Given the description of an element on the screen output the (x, y) to click on. 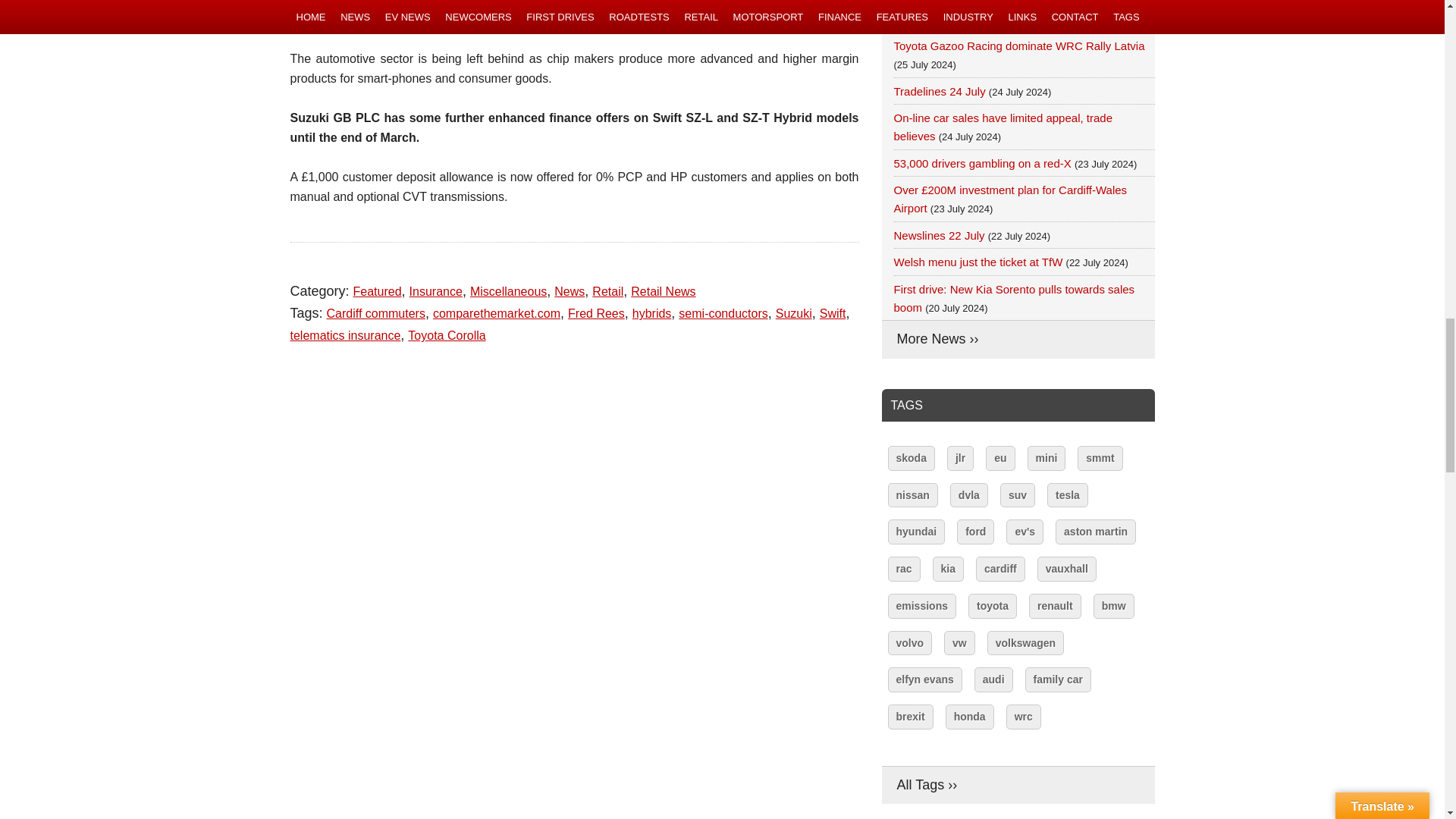
Permanent link to Tradelines 24 July (939, 91)
Permanent link to Newslines 22 July (938, 235)
Permanent link to 53,000 drivers gambling on a red-X (981, 163)
Featured (377, 291)
